Given the description of an element on the screen output the (x, y) to click on. 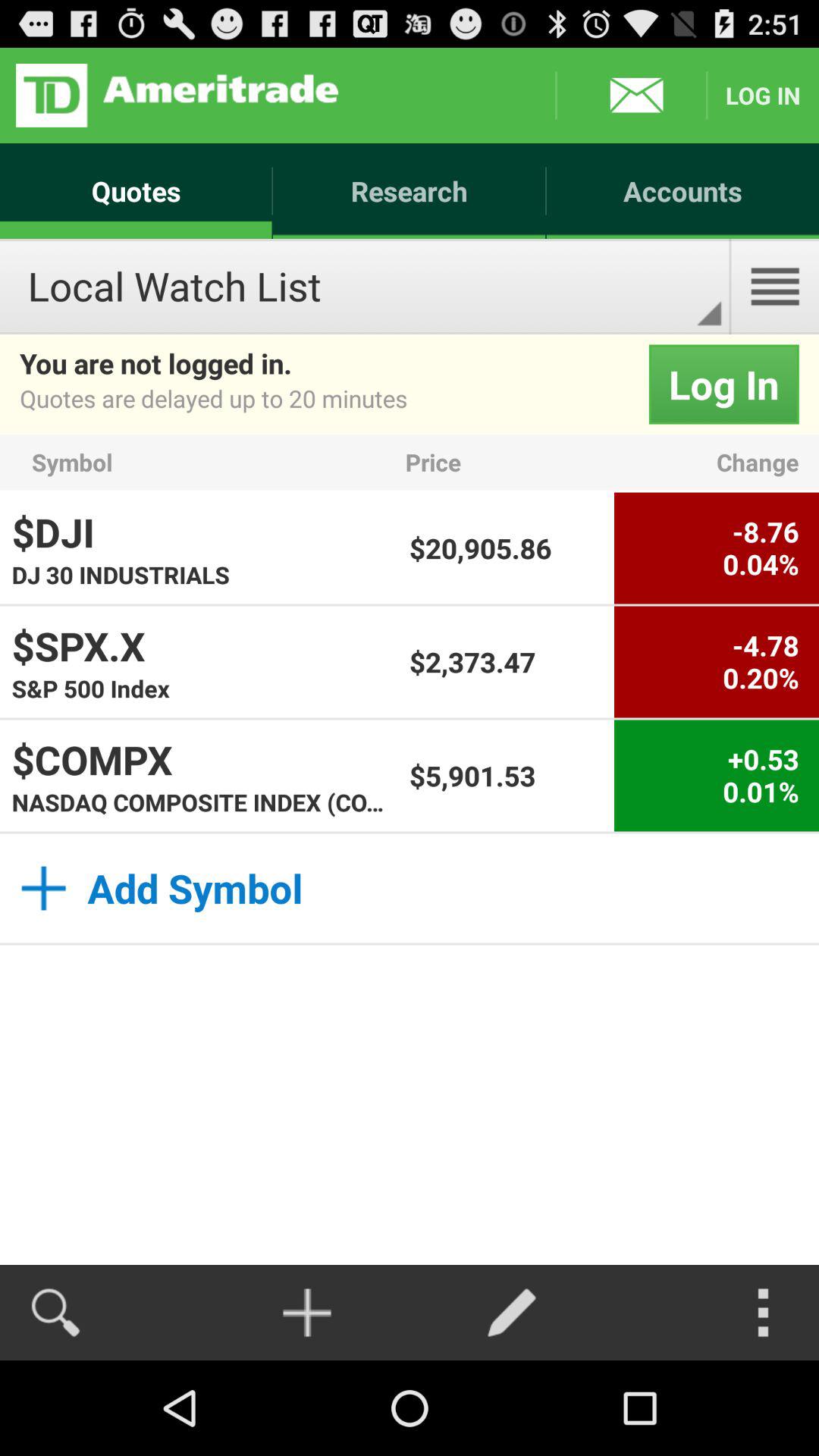
logo button (176, 95)
